Given the description of an element on the screen output the (x, y) to click on. 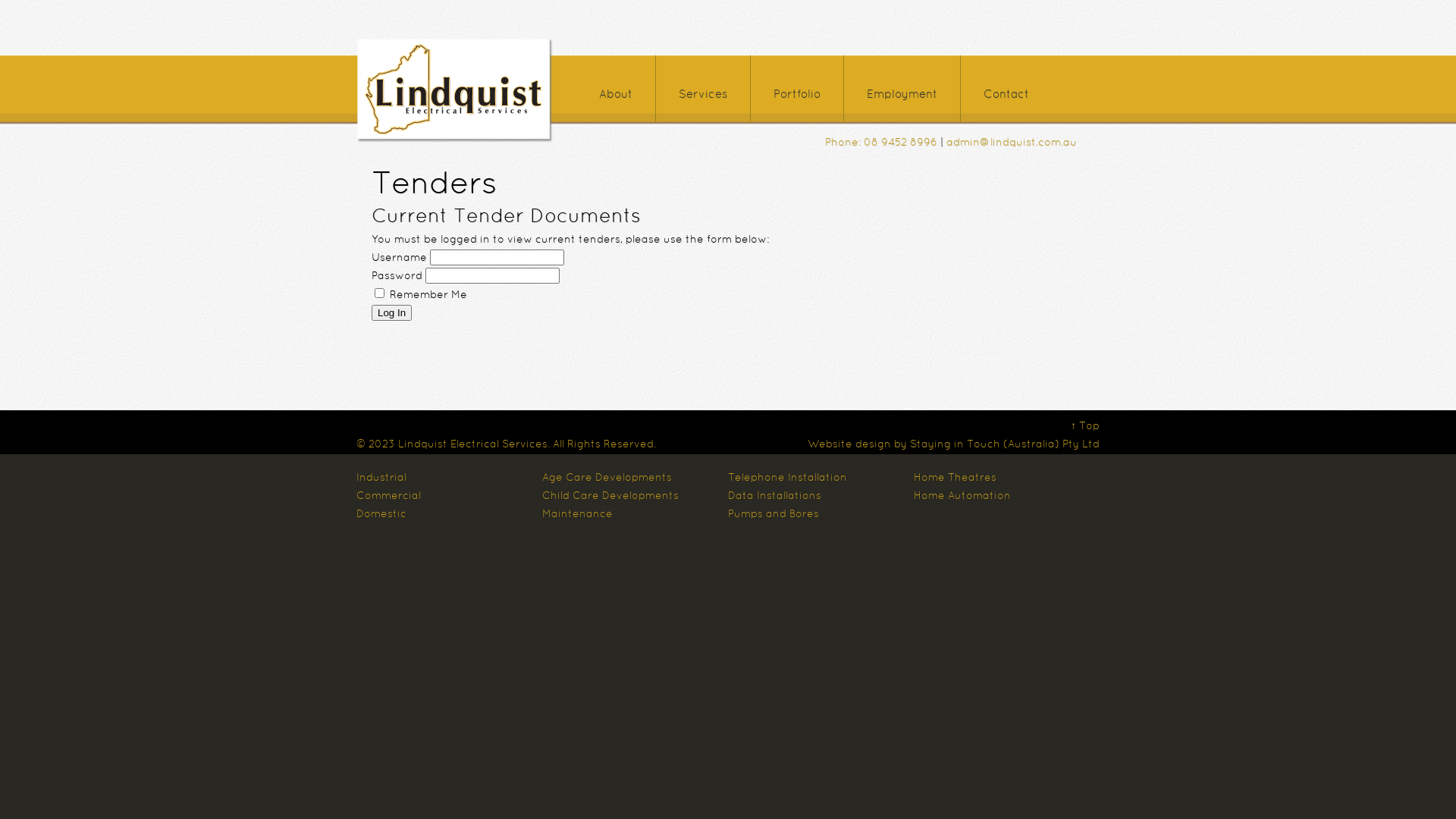
About Element type: text (615, 88)
Contact Element type: text (1005, 88)
Portfolio Element type: text (796, 88)
Lindquist Electrical Services Element type: text (472, 444)
Services Element type: text (702, 88)
Employment Element type: text (902, 88)
Staying in Touch (Australia) Pty Ltd Element type: text (1004, 444)
Just another WordPress site Element type: hover (454, 140)
Phone: 08 9452 8996 Element type: text (881, 142)
admin@lindquist.com.au Element type: text (1011, 142)
Log In Element type: text (391, 312)
